Given the description of an element on the screen output the (x, y) to click on. 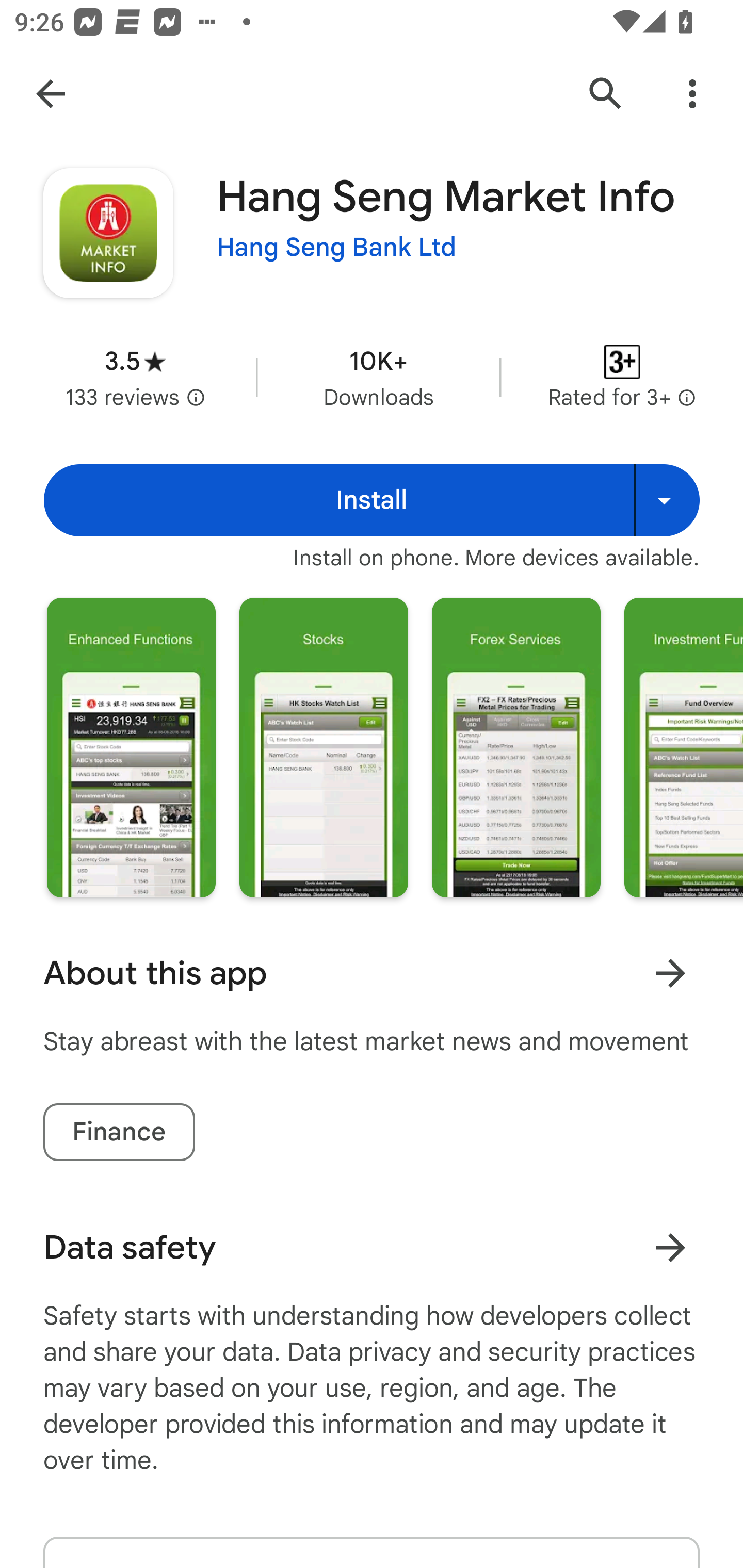
Navigate up (50, 93)
Search Google Play (605, 93)
More Options (692, 93)
Hang Seng Bank Ltd (336, 247)
Average rating 3.5 stars in 133 reviews (135, 377)
Content rating Rated for 3+ (622, 377)
Install Install Install on more devices (371, 500)
Install on more devices (667, 500)
Screenshot "1" of "4" (130, 746)
Screenshot "2" of "4" (323, 746)
Screenshot "3" of "4" (515, 746)
Screenshot "4" of "4" (683, 746)
About this app Learn more About this app (371, 972)
Learn more About this app (670, 972)
Finance tag (118, 1132)
Data safety Learn more about data safety (371, 1247)
Learn more about data safety (670, 1247)
